Given the description of an element on the screen output the (x, y) to click on. 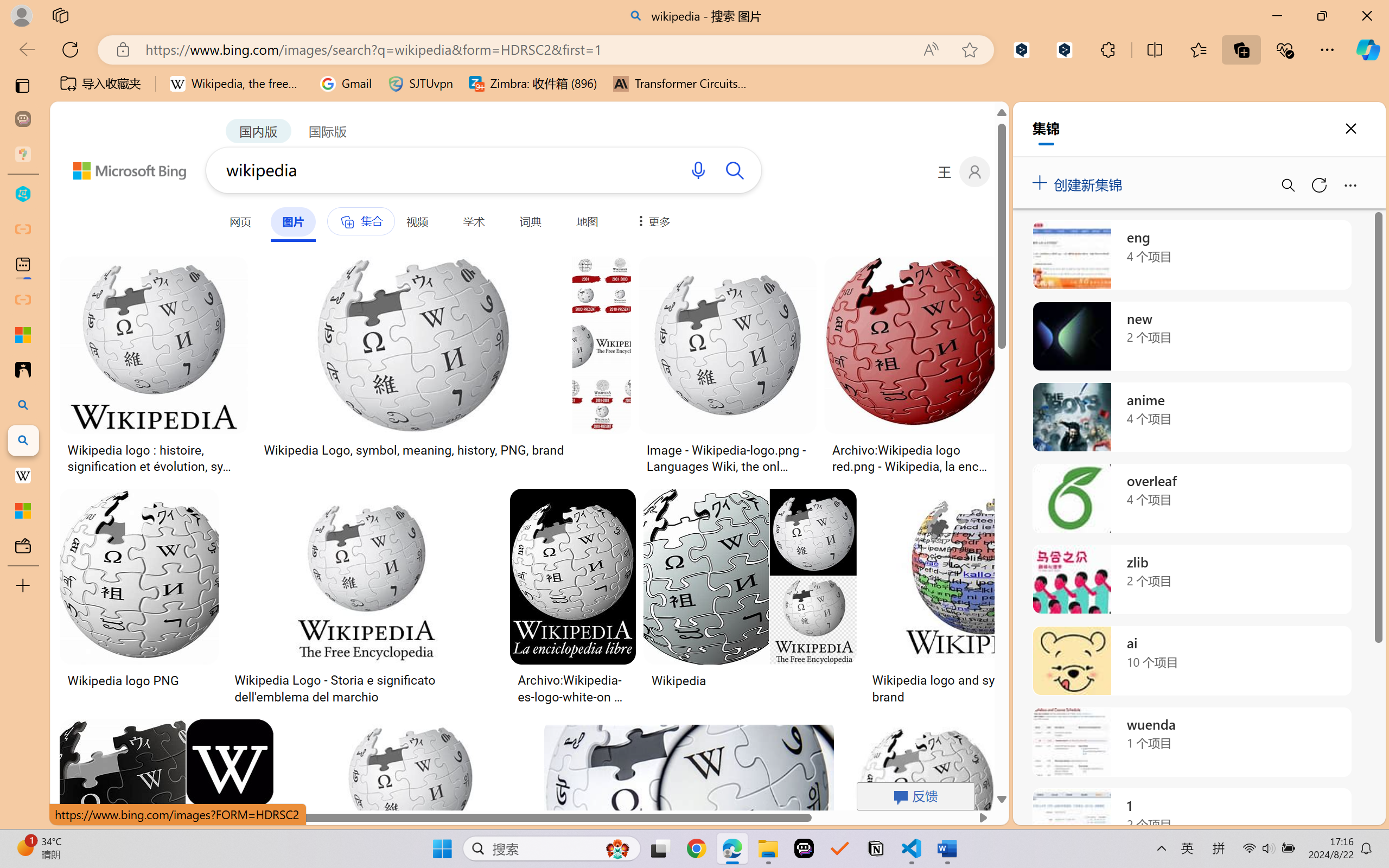
Czech (1231, 246)
Slide Title (258, 51)
Inspect without Color (191, 62)
Mark as Decorative (344, 62)
